Given the description of an element on the screen output the (x, y) to click on. 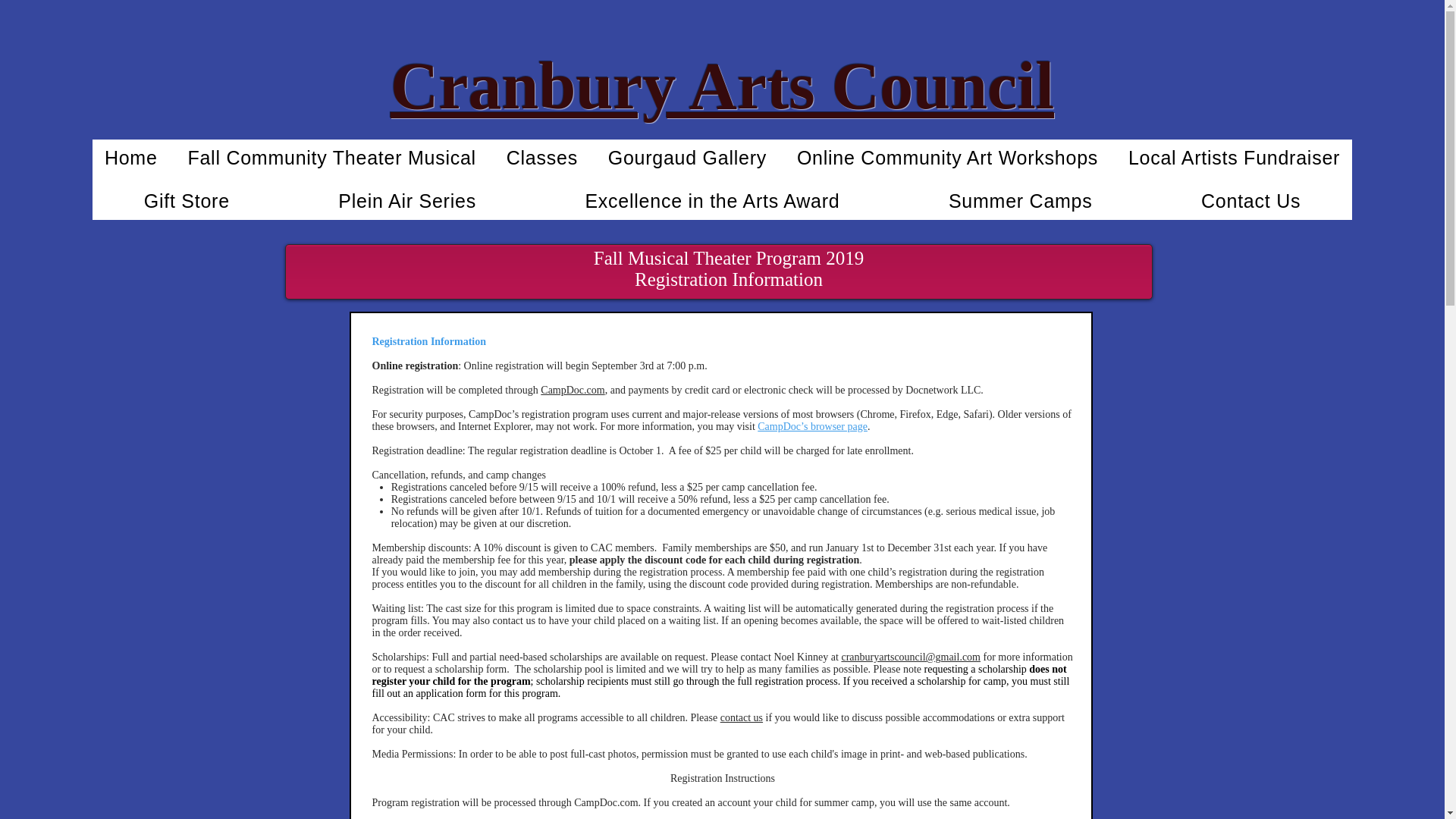
Fall Community Theater Musical (331, 157)
Cranbury Arts Council (722, 85)
Gift Store (187, 201)
Home (131, 157)
CampDoc.com (572, 389)
Excellence in the Arts Award (712, 201)
Local Artists Fundraiser (1234, 157)
Contact Us (1251, 201)
Classes (542, 157)
Online Community Art Workshops (946, 157)
contact us (741, 717)
